Given the description of an element on the screen output the (x, y) to click on. 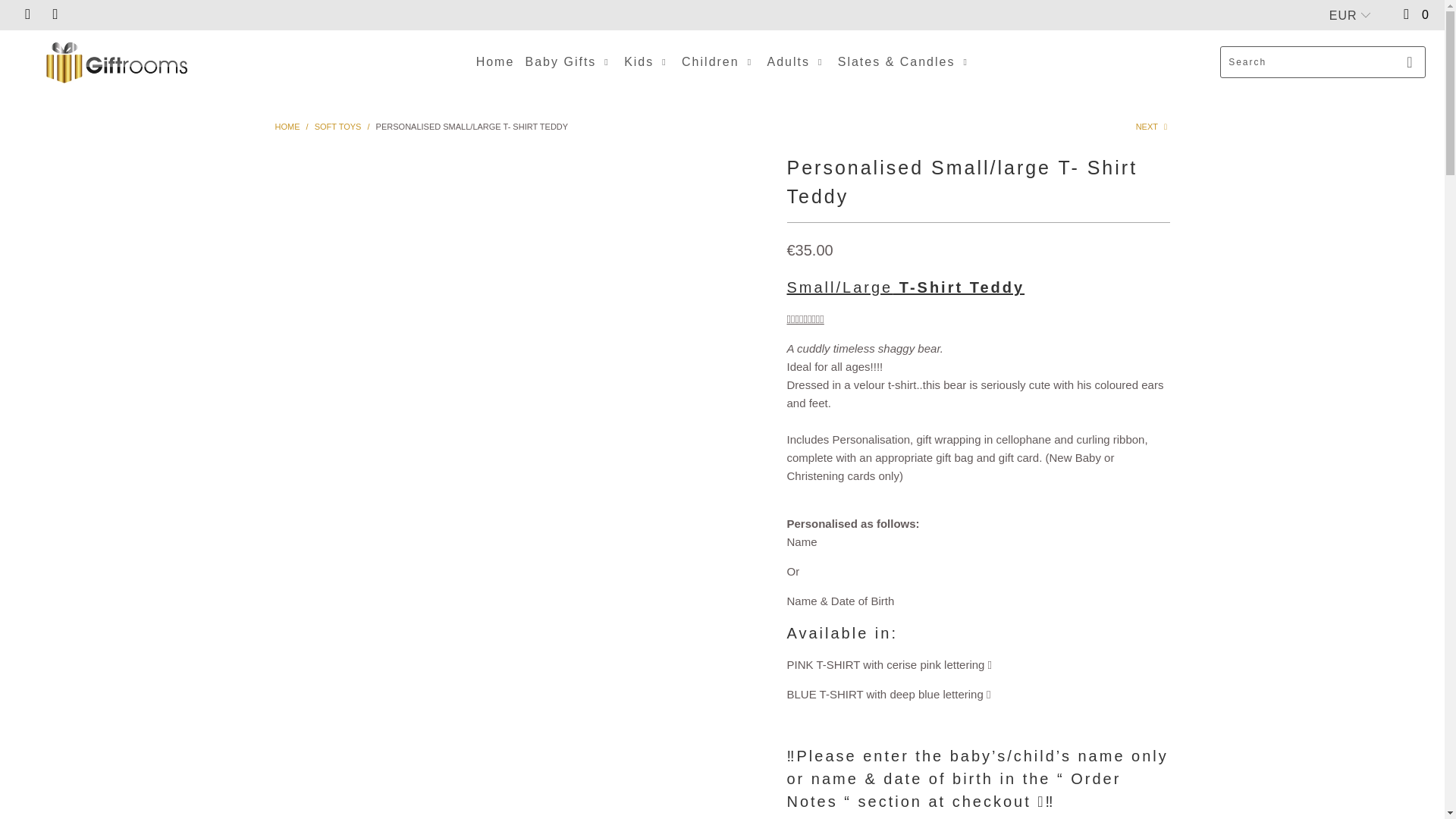
The Gift Rooms (287, 126)
Email The Gift Rooms (54, 14)
The Gift Rooms (115, 62)
Next (1152, 126)
The Gift Rooms on Facebook (26, 14)
Soft Toys (337, 126)
